Given the description of an element on the screen output the (x, y) to click on. 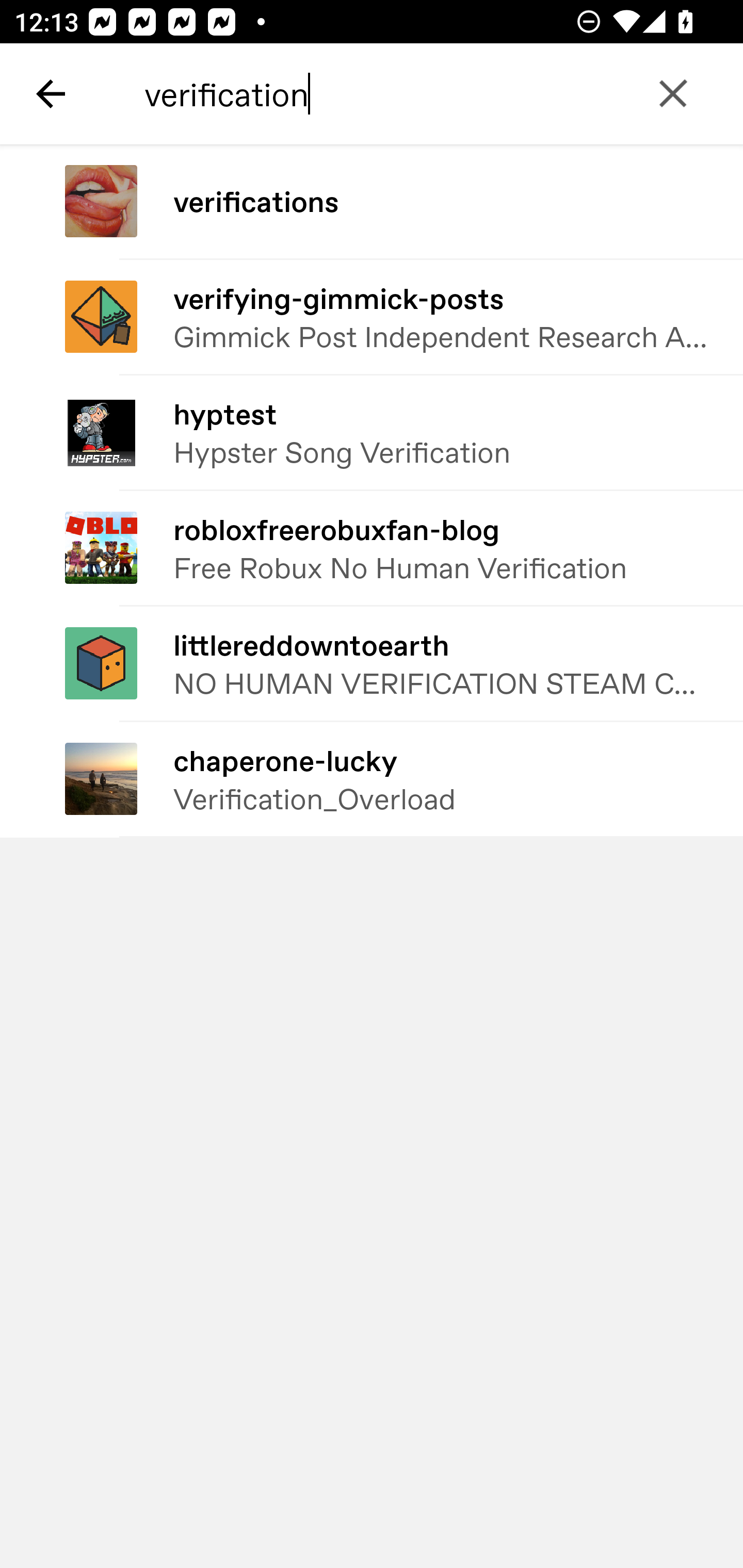
Navigate up (50, 93)
verification (422, 93)
Clear Search (673, 93)
verifications (371, 202)
hyptest Hypster Song Verification (371, 432)
chaperone-lucky Verification_Overload (371, 779)
